Given the description of an element on the screen output the (x, y) to click on. 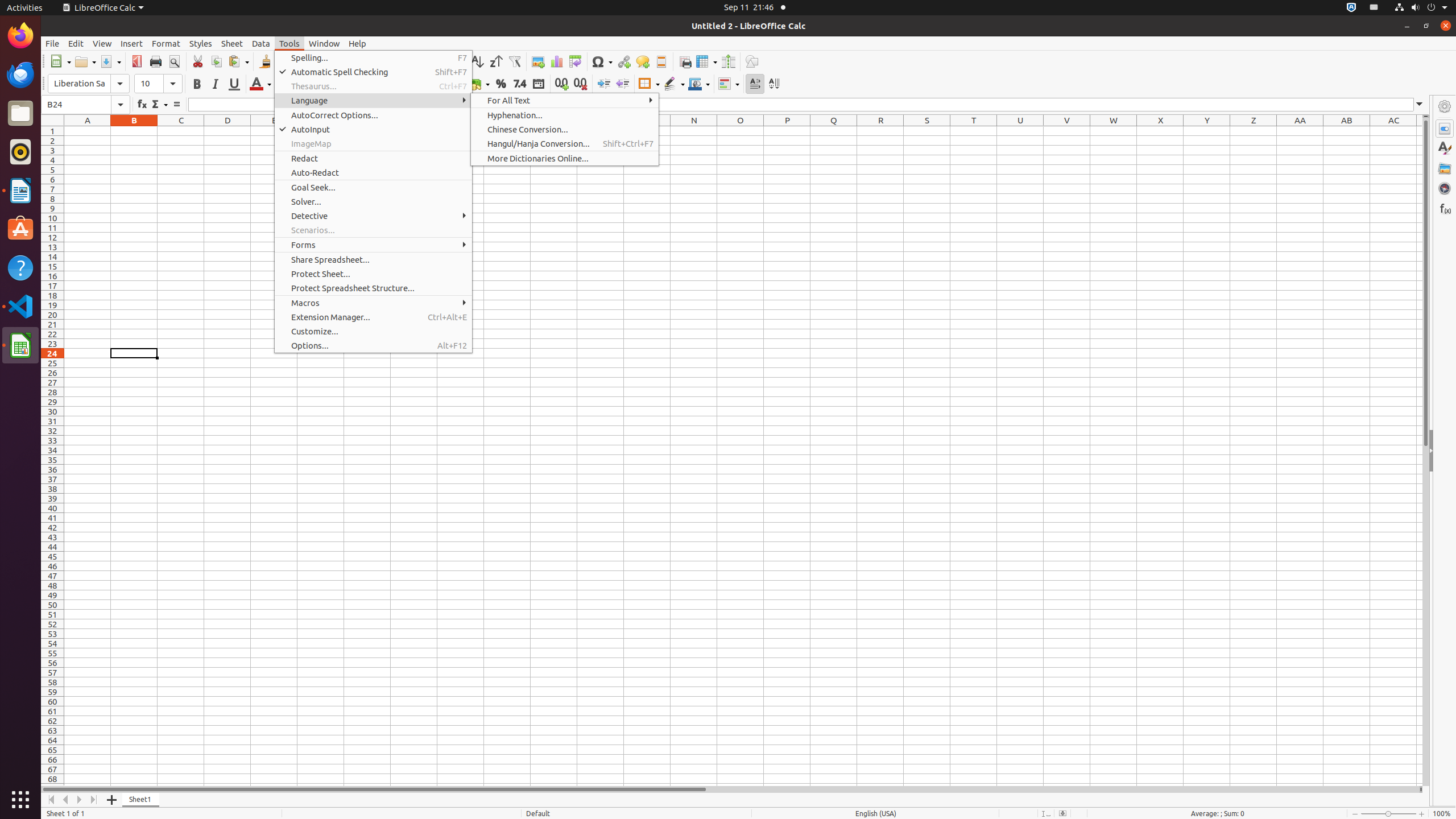
Share Spreadsheet... Element type: menu-item (373, 259)
New Element type: push-button (59, 61)
Name Box Element type: combo-box (85, 104)
Gallery Element type: radio-button (1444, 168)
Italic Element type: toggle-button (214, 83)
